Given the description of an element on the screen output the (x, y) to click on. 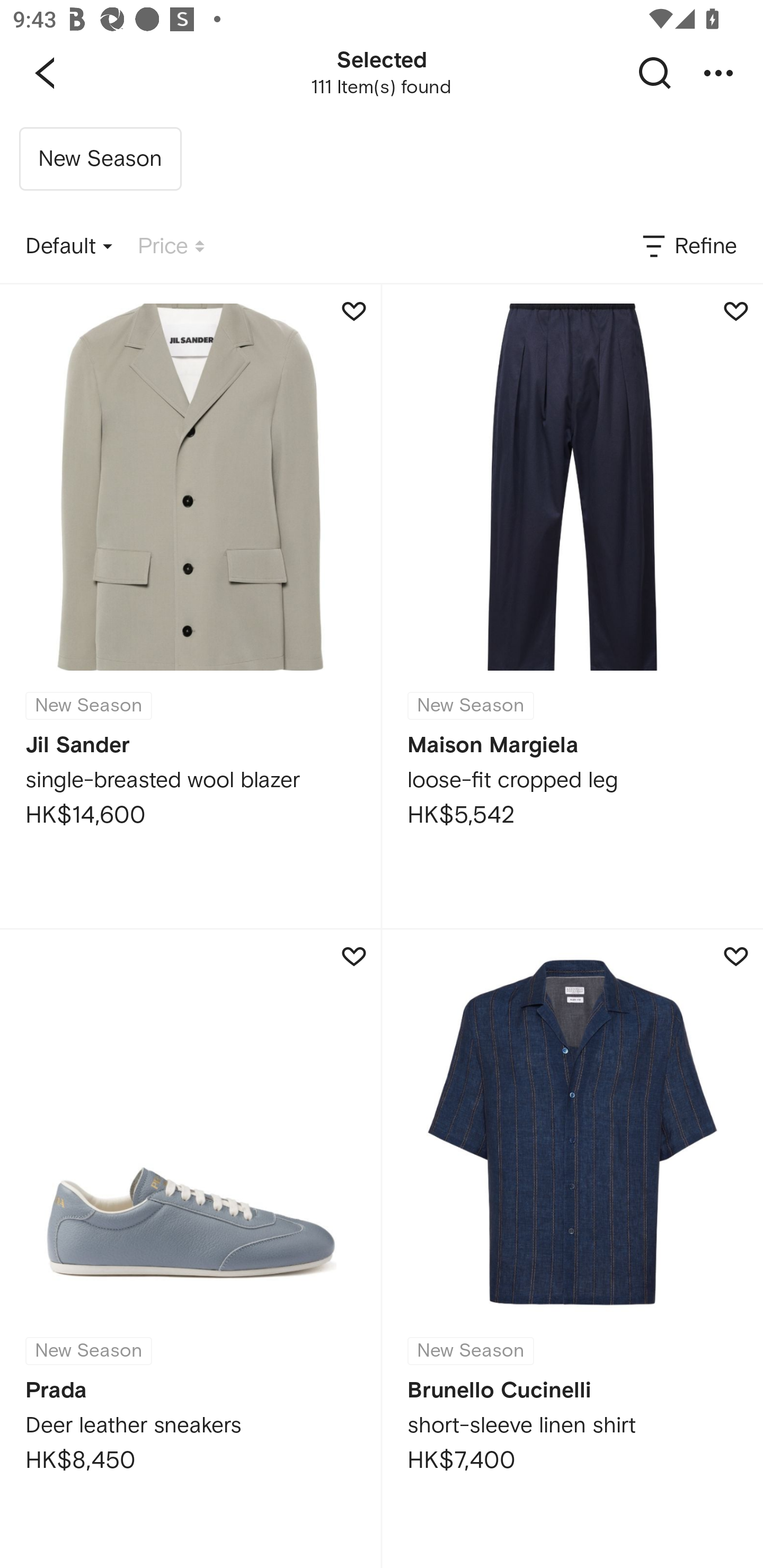
New Season (100, 158)
Default (68, 246)
Price (171, 246)
Refine (688, 246)
New Season Prada Deer leather sneakers HK$8,450 (190, 1248)
